Given the description of an element on the screen output the (x, y) to click on. 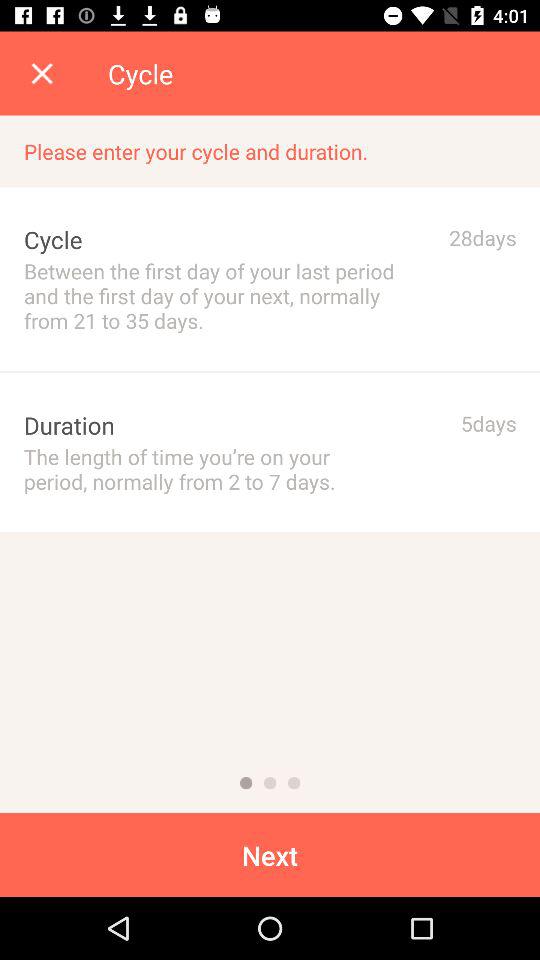
go to 2nd of 3 pages (270, 783)
